Given the description of an element on the screen output the (x, y) to click on. 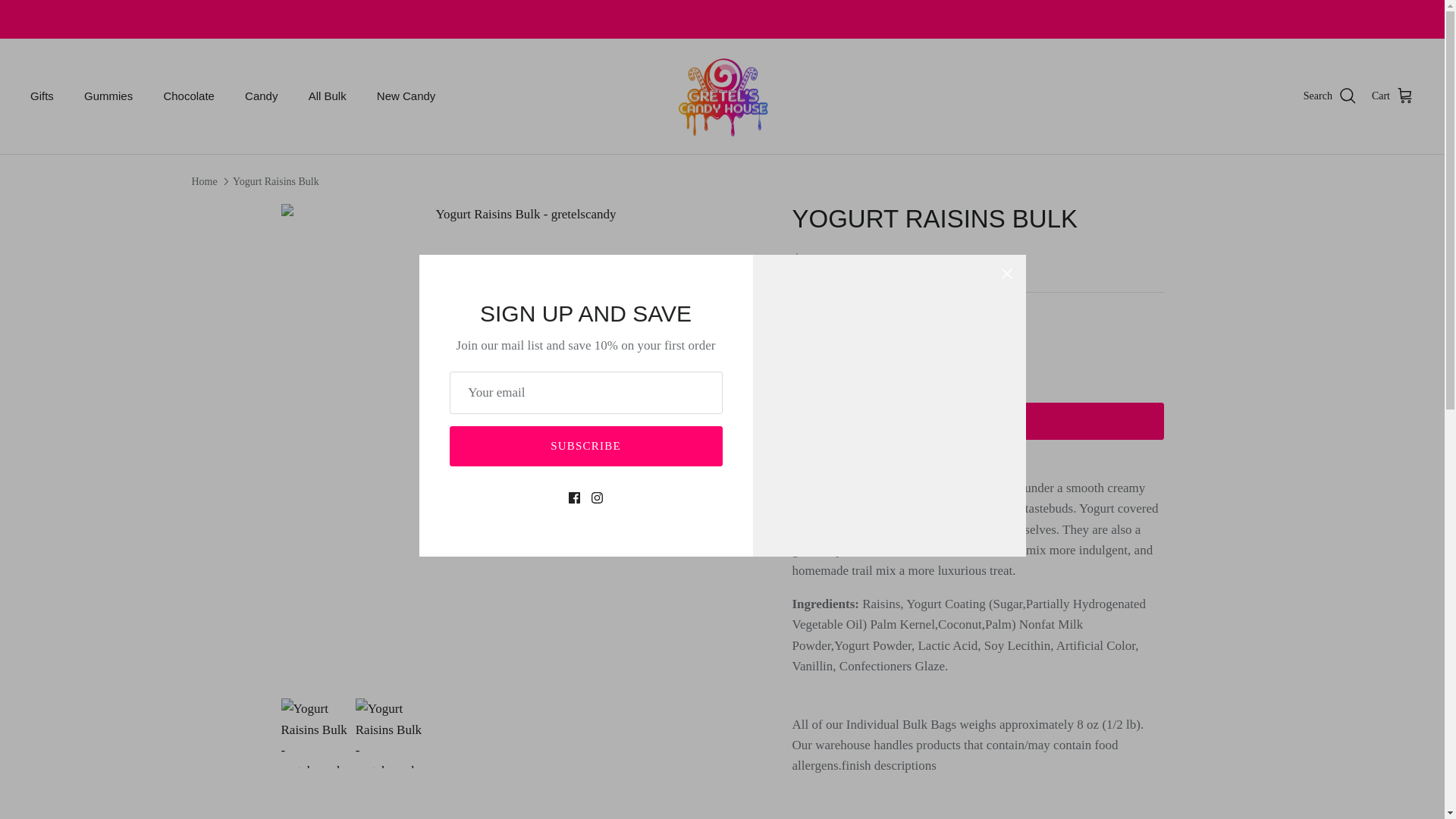
Gifts (41, 96)
Minus (809, 353)
All Bulk (327, 96)
Candy (261, 96)
1 (853, 353)
Gummies (108, 96)
Cart (1392, 96)
RIGHT (741, 442)
Gretel's Candy (721, 96)
Search (1329, 96)
Chocolate (188, 96)
New Candy (405, 96)
Plus (897, 353)
